Given the description of an element on the screen output the (x, y) to click on. 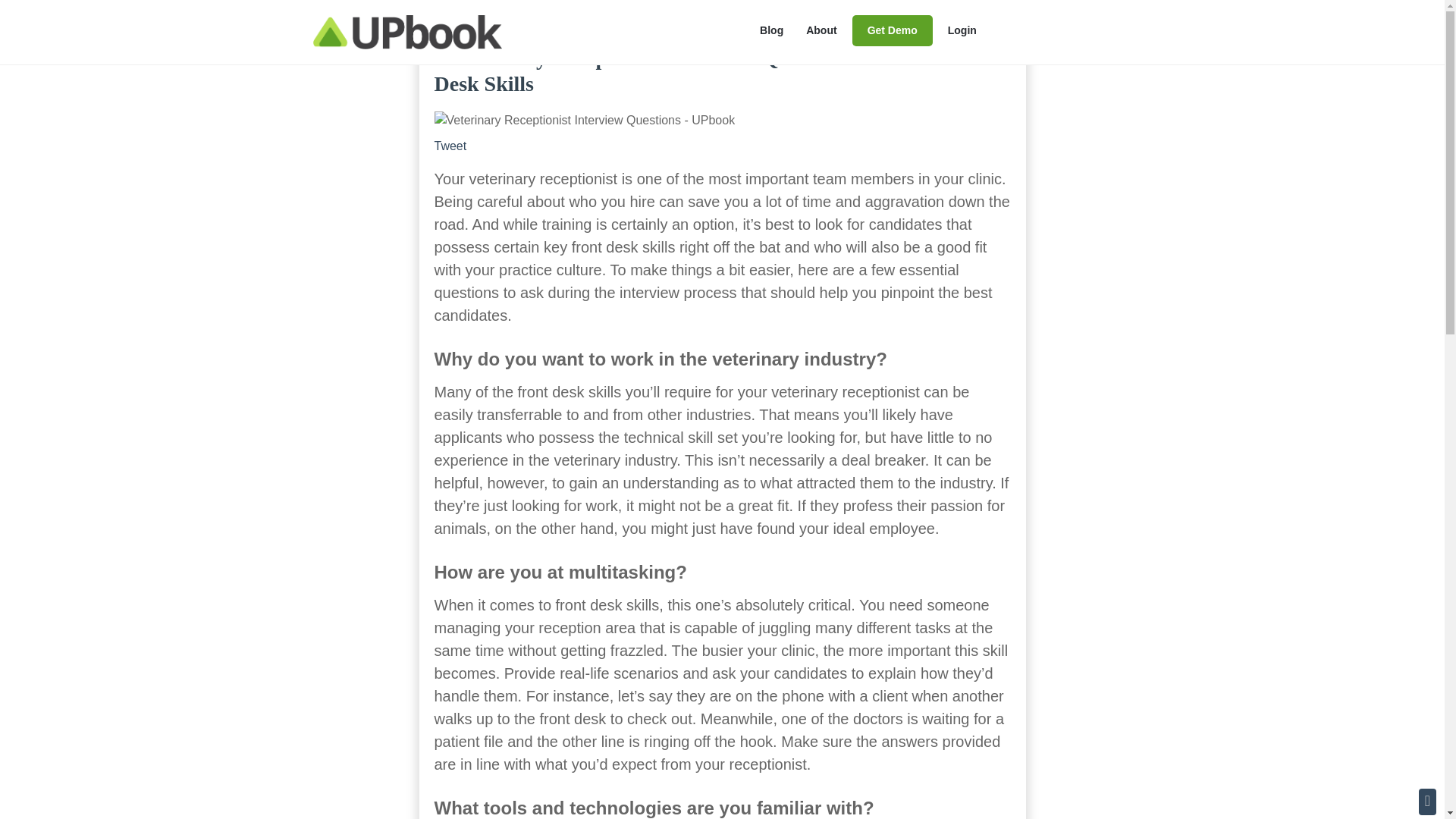
UPbook-logo-final (406, 32)
About (820, 30)
Blog (771, 30)
Get Demo (892, 30)
Veterinary Receptionist Interview Questions - UPbook (584, 120)
Tweet (449, 145)
Login (962, 30)
